Given the description of an element on the screen output the (x, y) to click on. 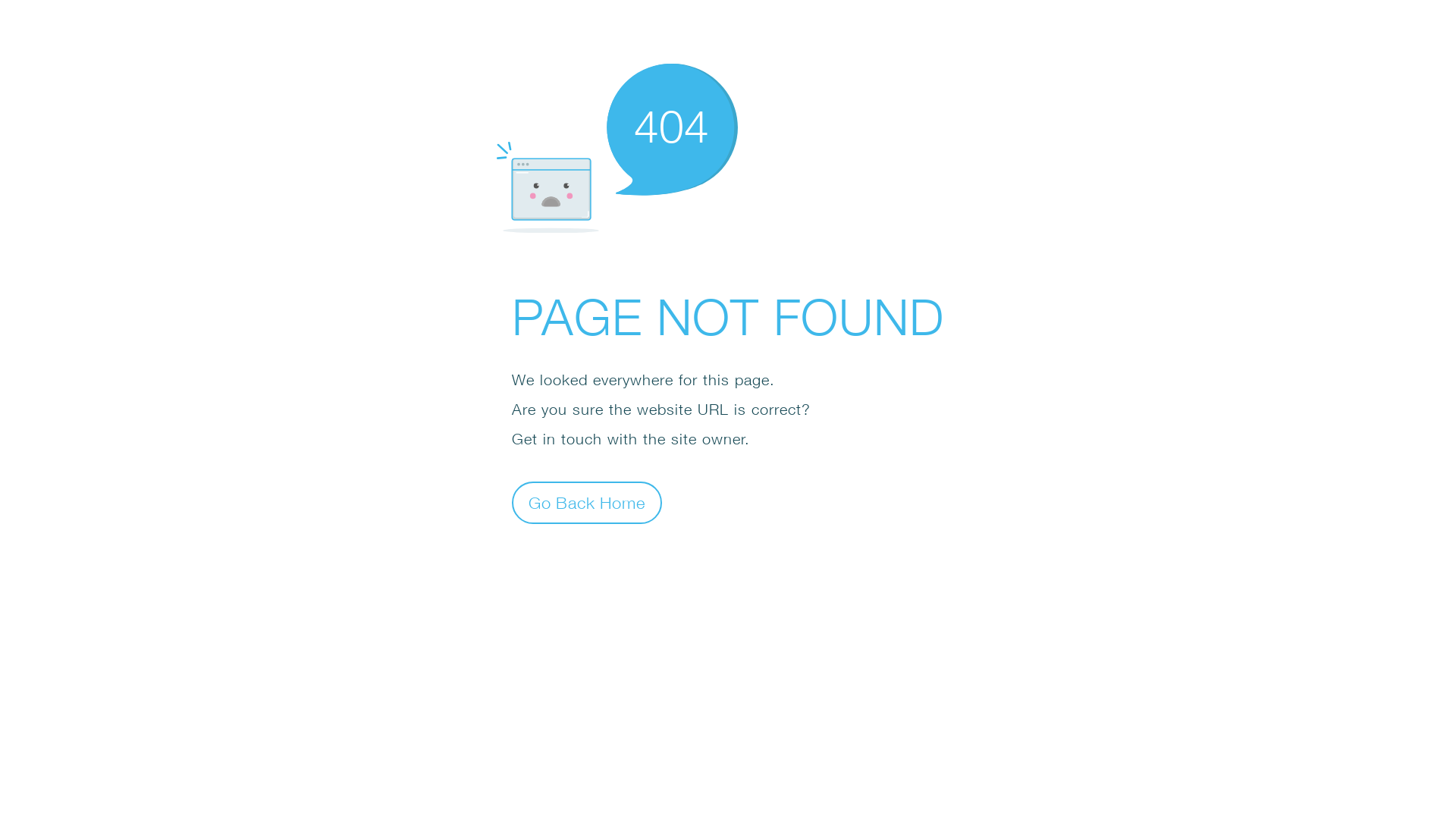
Go Back Home Element type: text (586, 502)
